Given the description of an element on the screen output the (x, y) to click on. 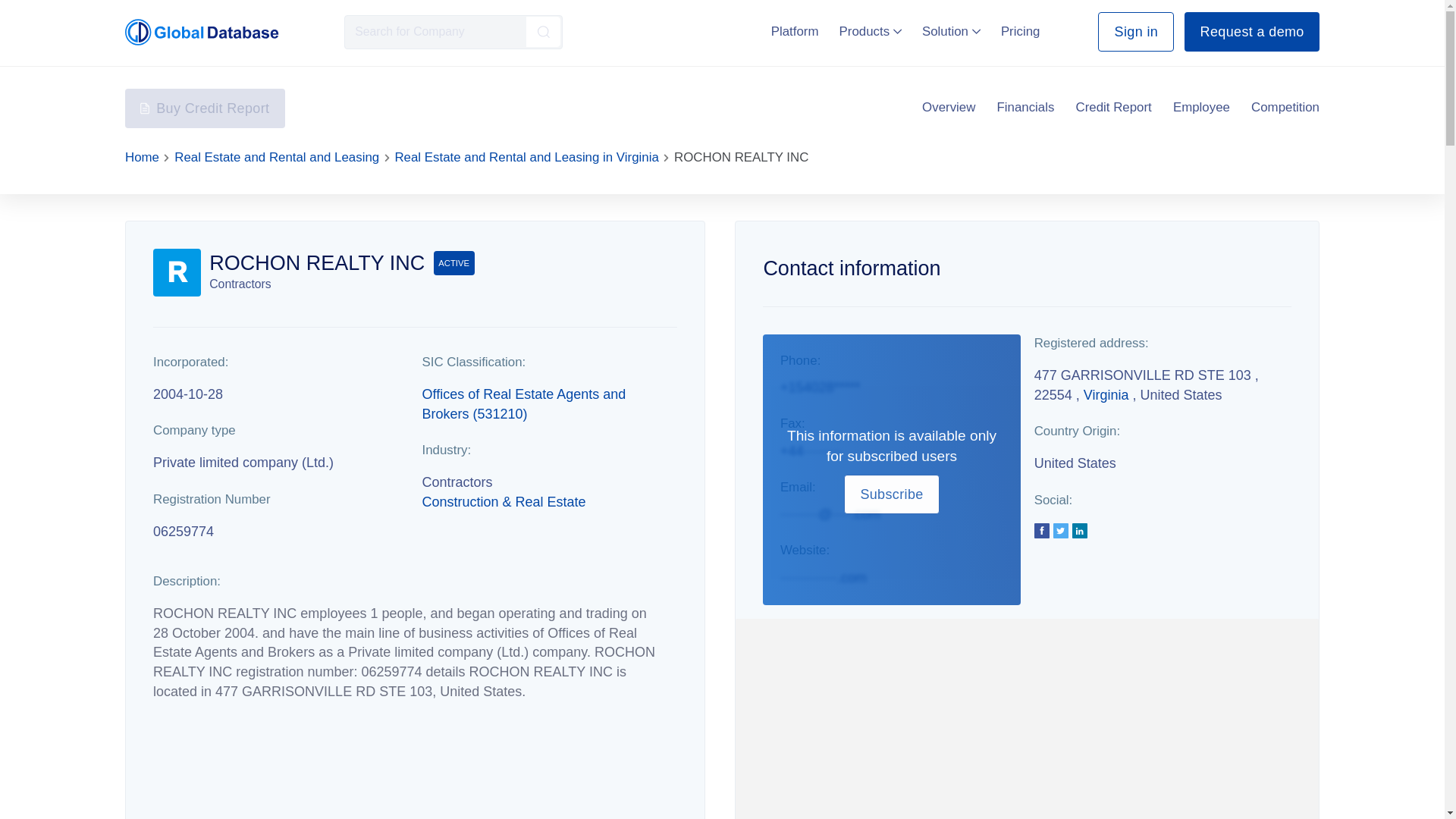
Buy Credit Report (205, 107)
Overview (948, 107)
Sign in (1135, 31)
Request a demo (1252, 31)
Financials (1024, 107)
Employee (1201, 107)
Competition (1284, 107)
Pricing (1021, 31)
Credit Report (1113, 107)
Platform (794, 31)
